Given the description of an element on the screen output the (x, y) to click on. 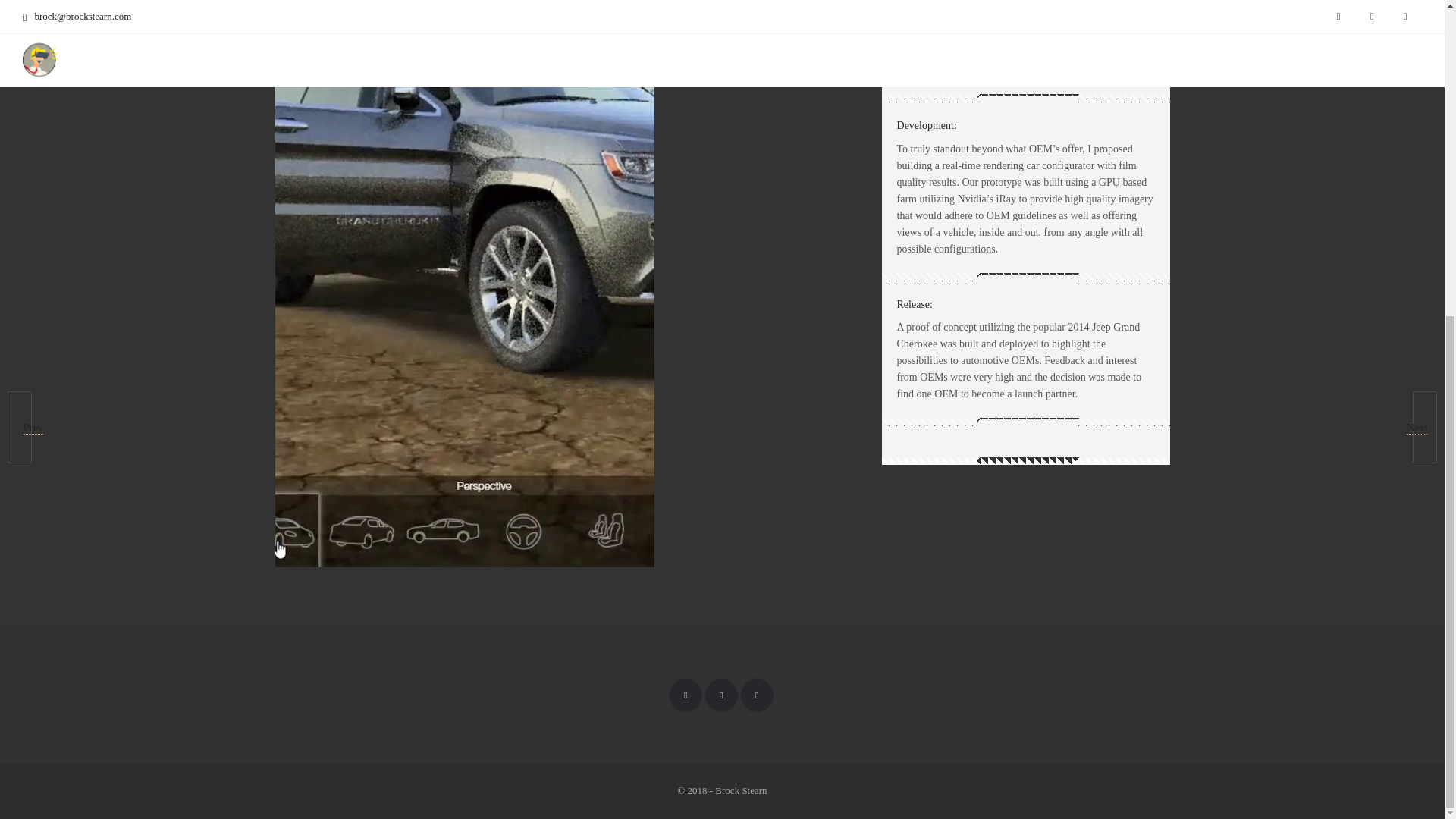
YouTube (756, 694)
Twitter (721, 694)
LinkedIN (684, 694)
